Given the description of an element on the screen output the (x, y) to click on. 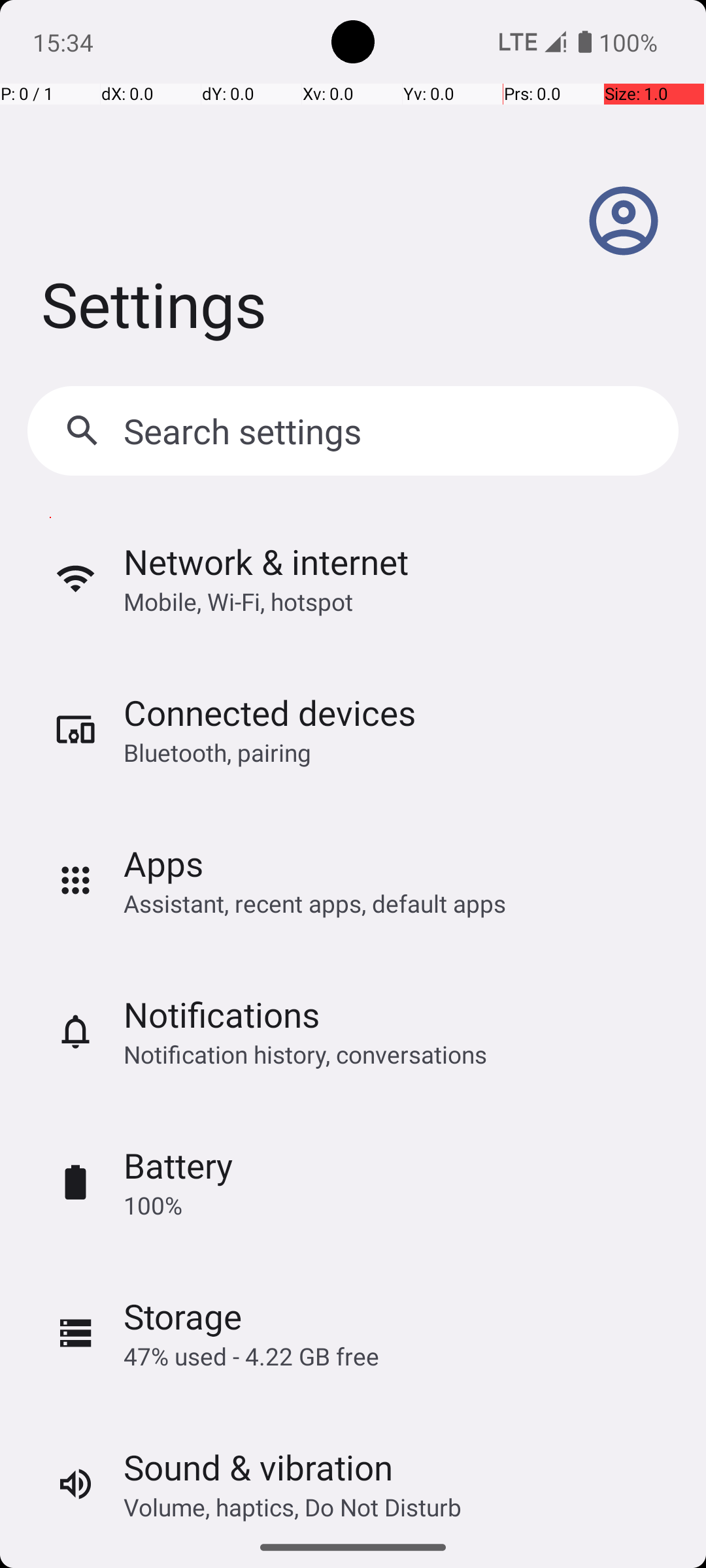
47% used - 4.22 GB free Element type: android.widget.TextView (251, 1355)
